Given the description of an element on the screen output the (x, y) to click on. 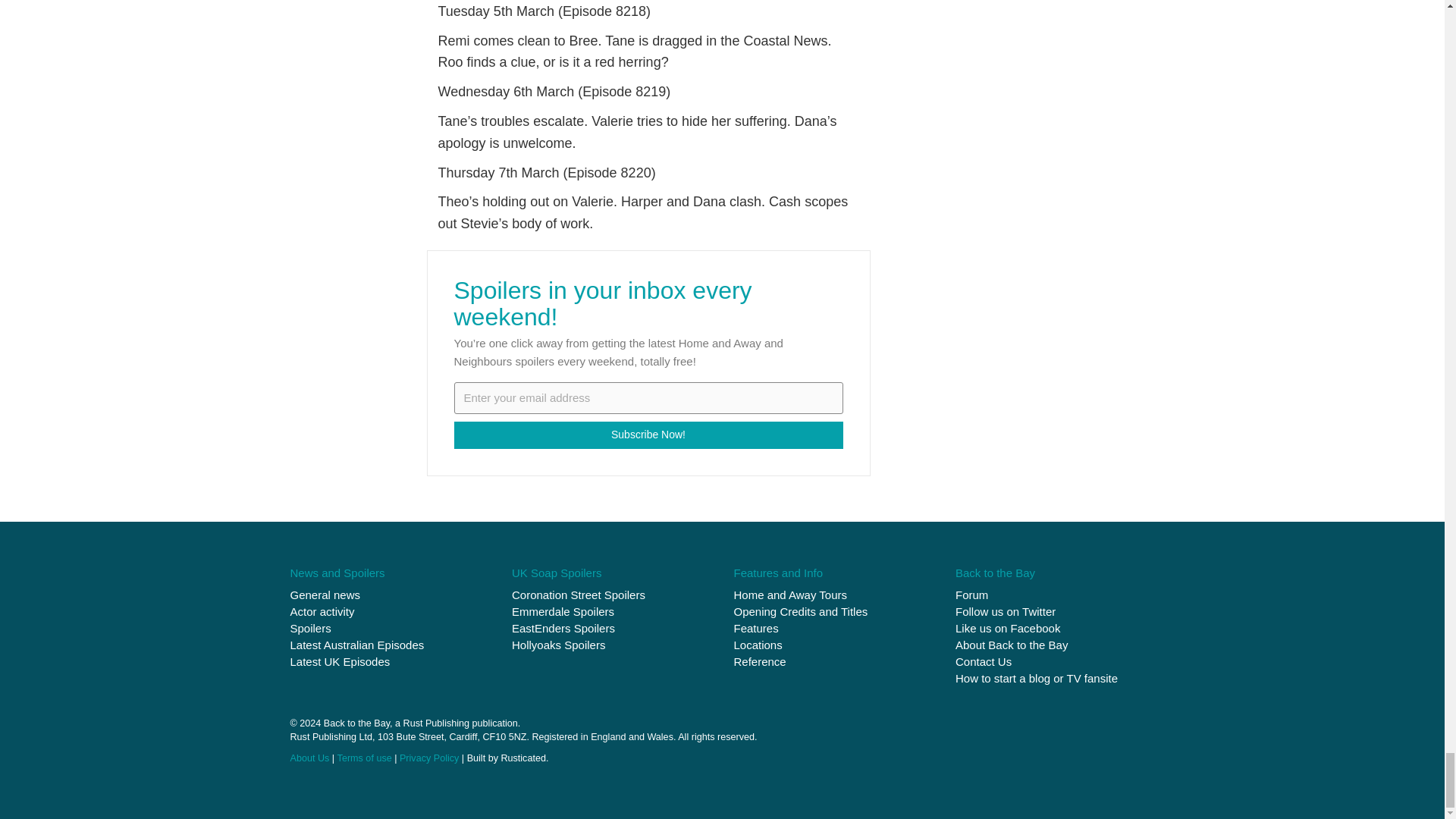
Subscribe Now! (647, 434)
